Given the description of an element on the screen output the (x, y) to click on. 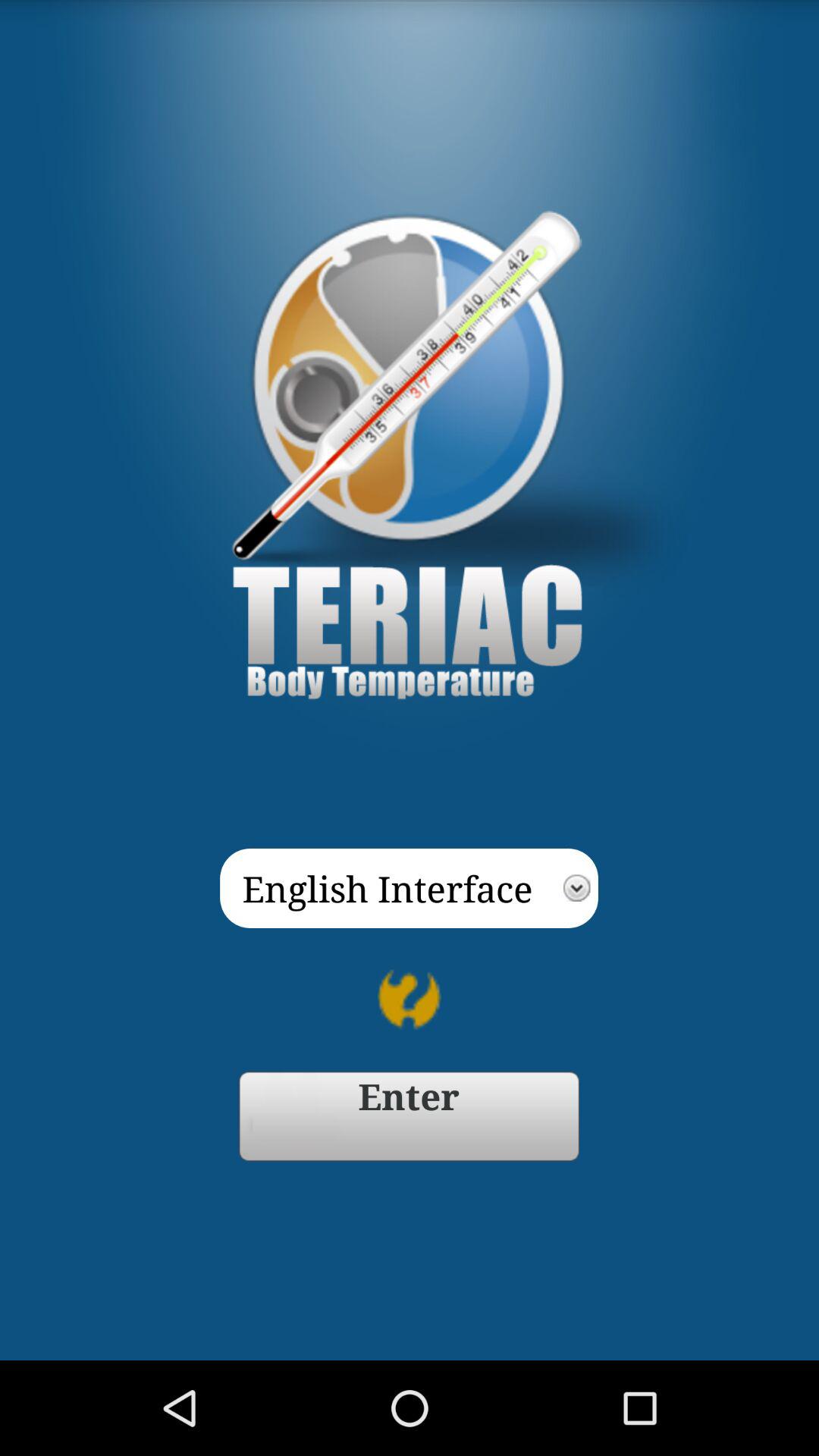
launch item below english interface app (409, 999)
